Given the description of an element on the screen output the (x, y) to click on. 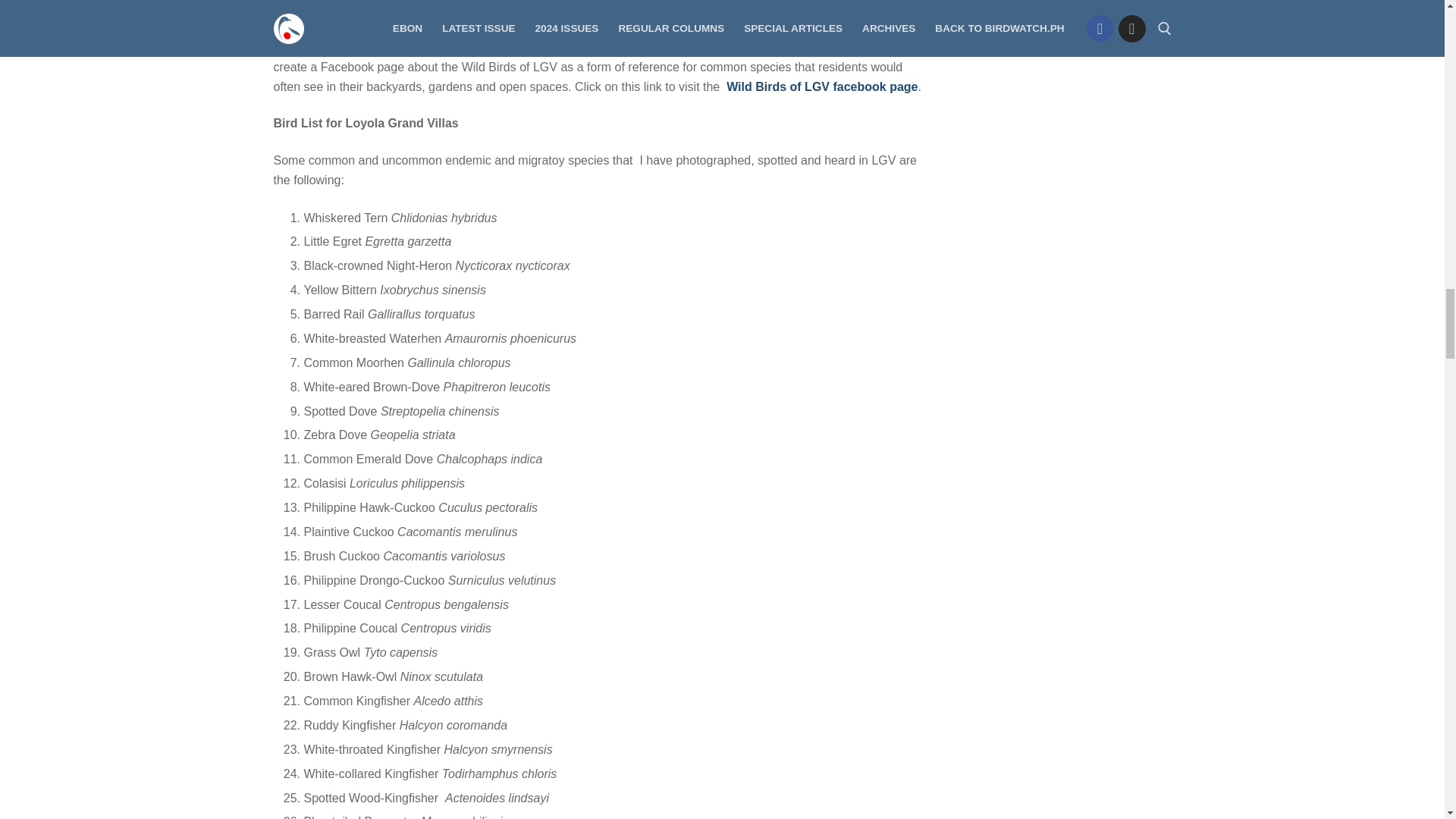
Wild Birds of LGV facebook page (821, 86)
